Given the description of an element on the screen output the (x, y) to click on. 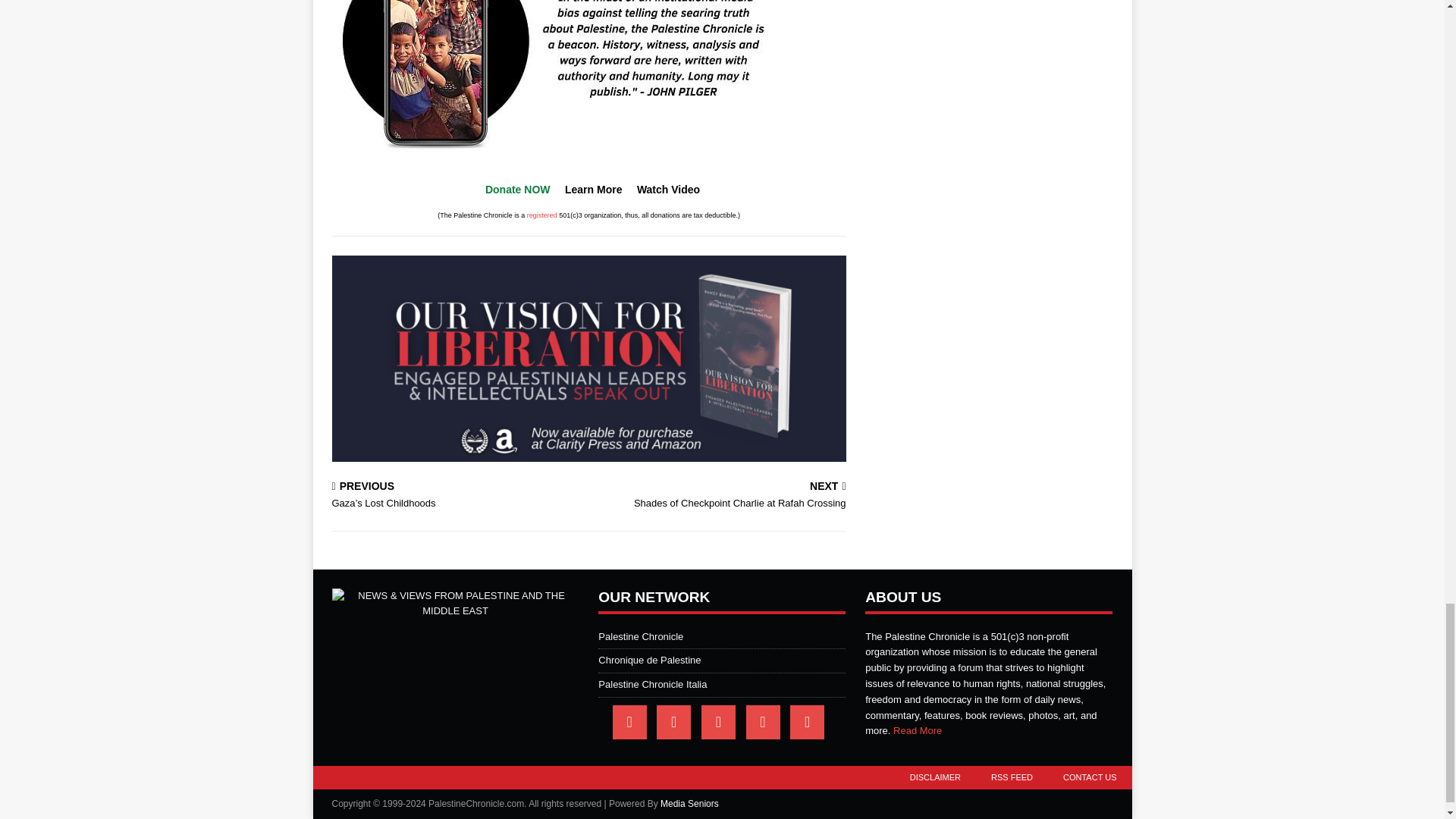
registered (542, 215)
Watch Video (668, 189)
Donate NOW (517, 189)
Learn More (720, 495)
